Given the description of an element on the screen output the (x, y) to click on. 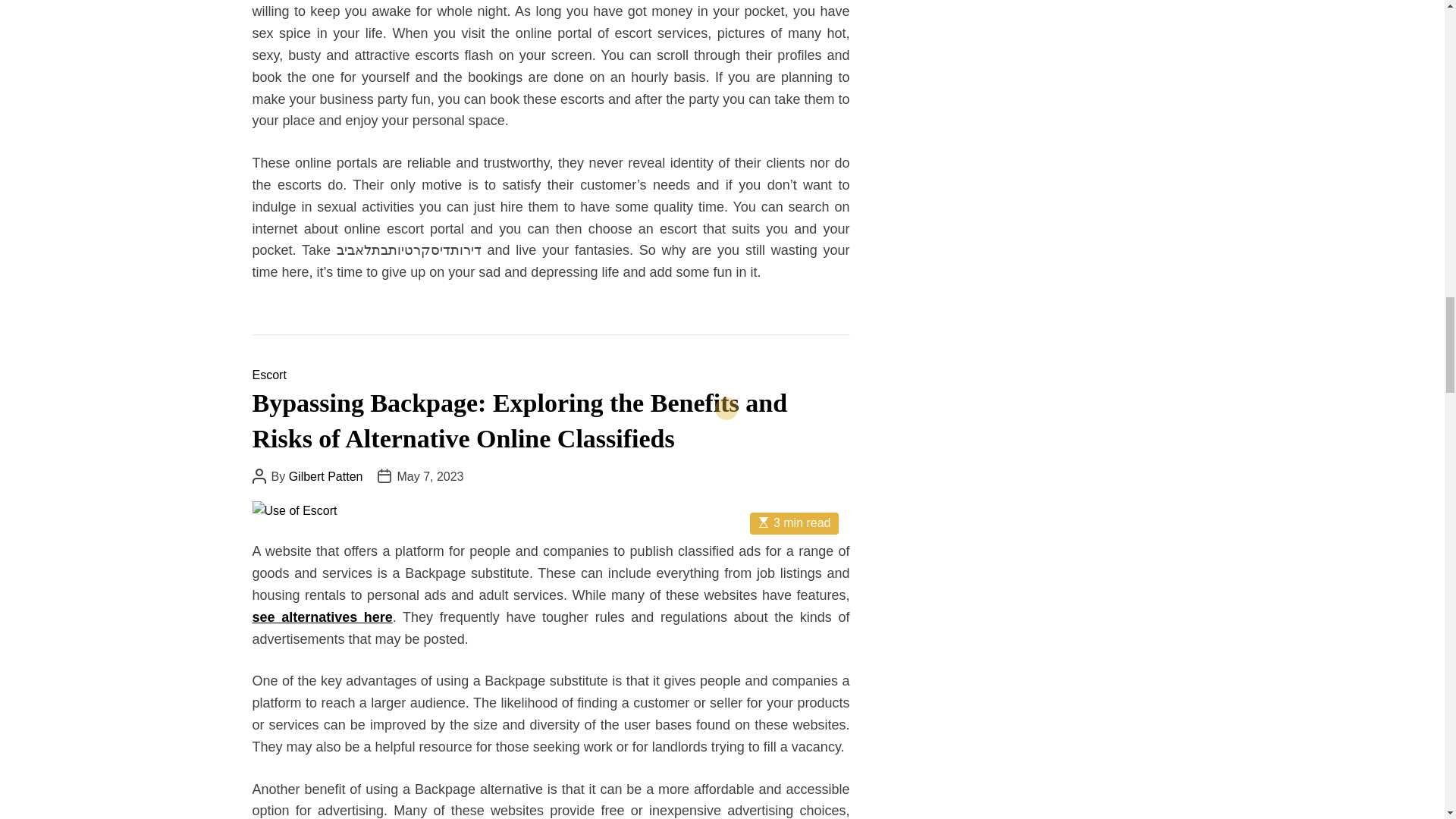
Escort (268, 374)
Gilbert Patten (325, 476)
see alternatives here (321, 616)
